Given the description of an element on the screen output the (x, y) to click on. 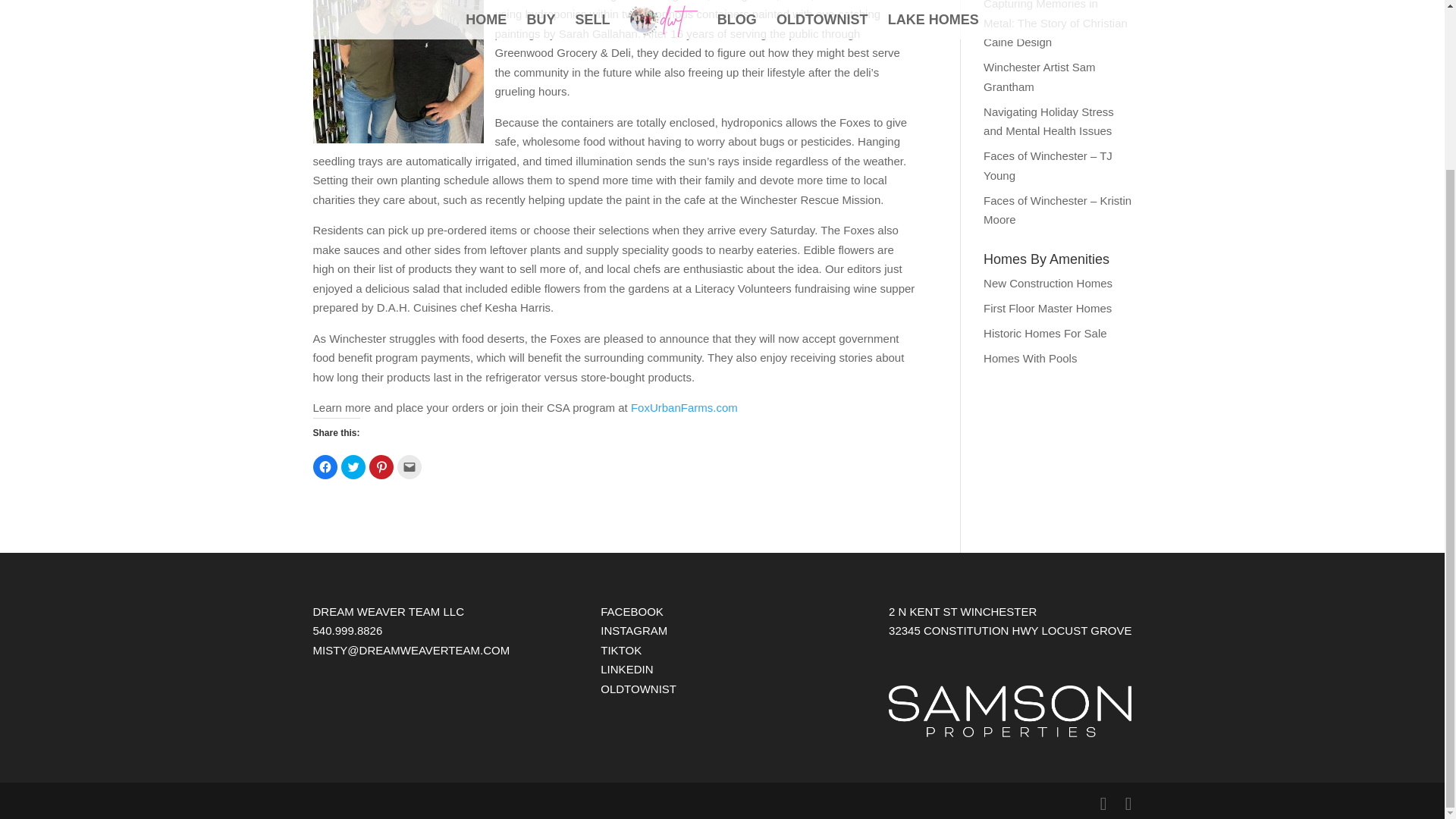
First Floor Master Homes (1048, 307)
New Construction Homes (1048, 282)
Click to share on Twitter (352, 467)
Navigating Holiday Stress and Mental Health Issues (1048, 121)
OLDTOWNIST (638, 688)
Historic Homes For Sale (1045, 332)
FACEBOOK (631, 611)
INSTAGRAM (632, 630)
TIKTOK (620, 649)
Click to share on Facebook (324, 467)
